Given the description of an element on the screen output the (x, y) to click on. 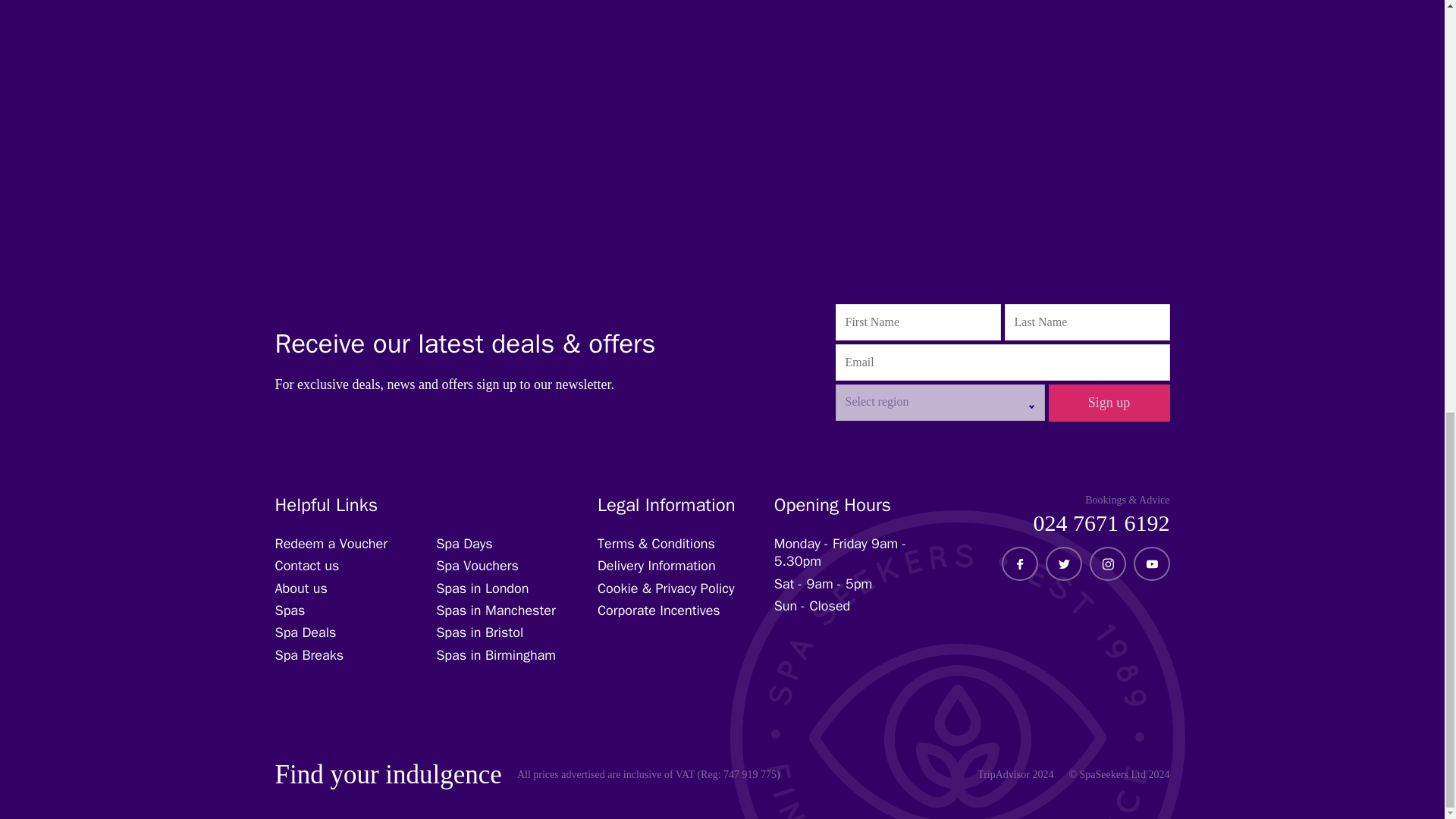
Twitter (1062, 563)
Facebook (1019, 563)
Youtube (1150, 563)
Instagram (1106, 563)
